Given the description of an element on the screen output the (x, y) to click on. 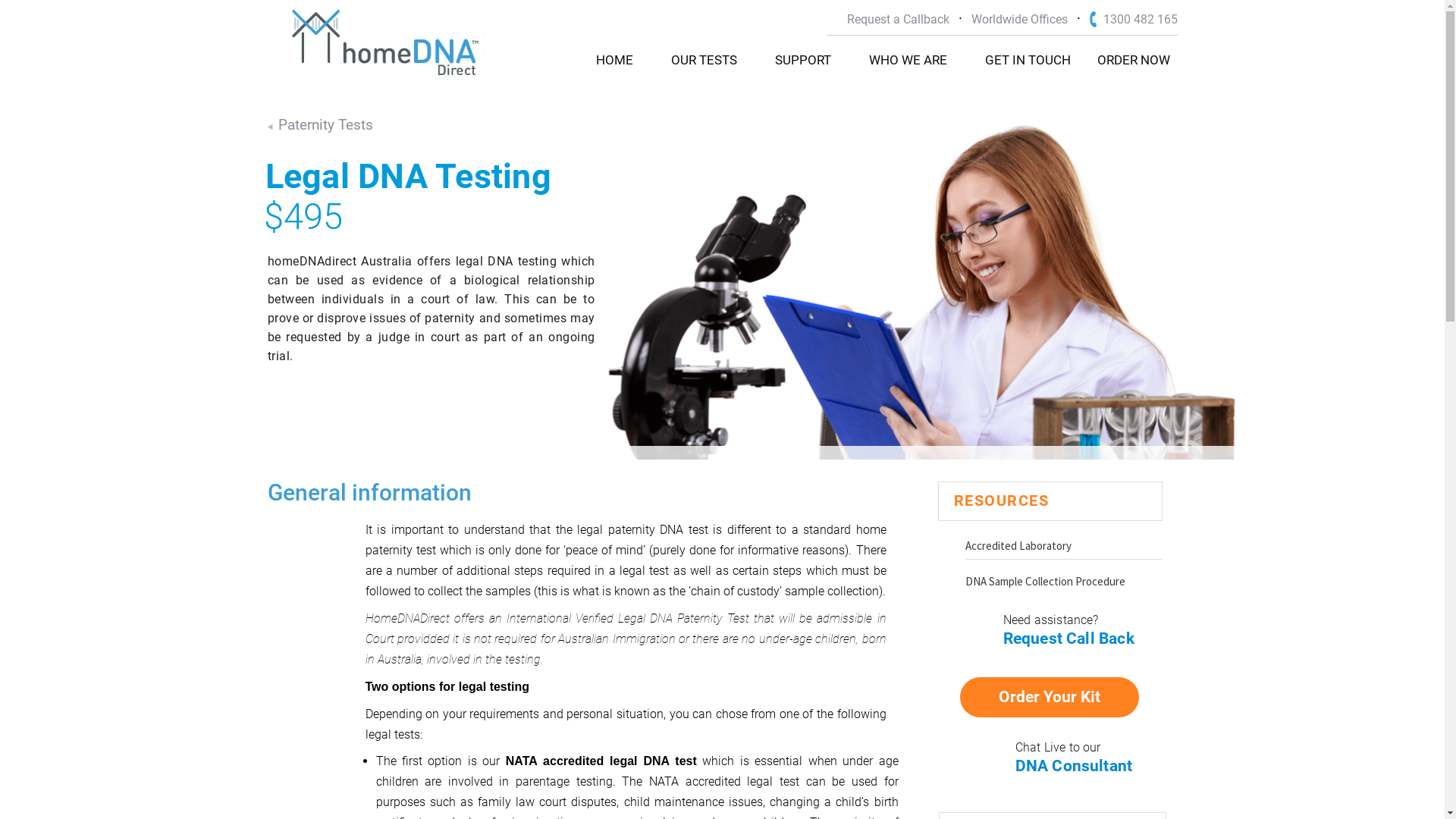
Accredited Laboratory Element type: text (1062, 548)
WHO WE ARE Element type: text (907, 60)
GET IN TOUCH Element type: text (1026, 60)
HOME Element type: text (614, 60)
Paternity Tests Element type: text (319, 124)
Chat Live to our
DNA Consultant Element type: text (1073, 764)
1300 482 165 Element type: text (1132, 19)
Request a Callback Element type: text (897, 19)
SUPPORT Element type: text (802, 60)
DNA Sample Collection Procedure Element type: text (1062, 584)
Order Your Kit Element type: text (1049, 697)
Need assistance?
Request Call Back Element type: text (1054, 636)
OUR TESTS Element type: text (702, 60)
Worldwide Offices Element type: text (1018, 19)
ORDER NOW Element type: text (1132, 60)
